Given the description of an element on the screen output the (x, y) to click on. 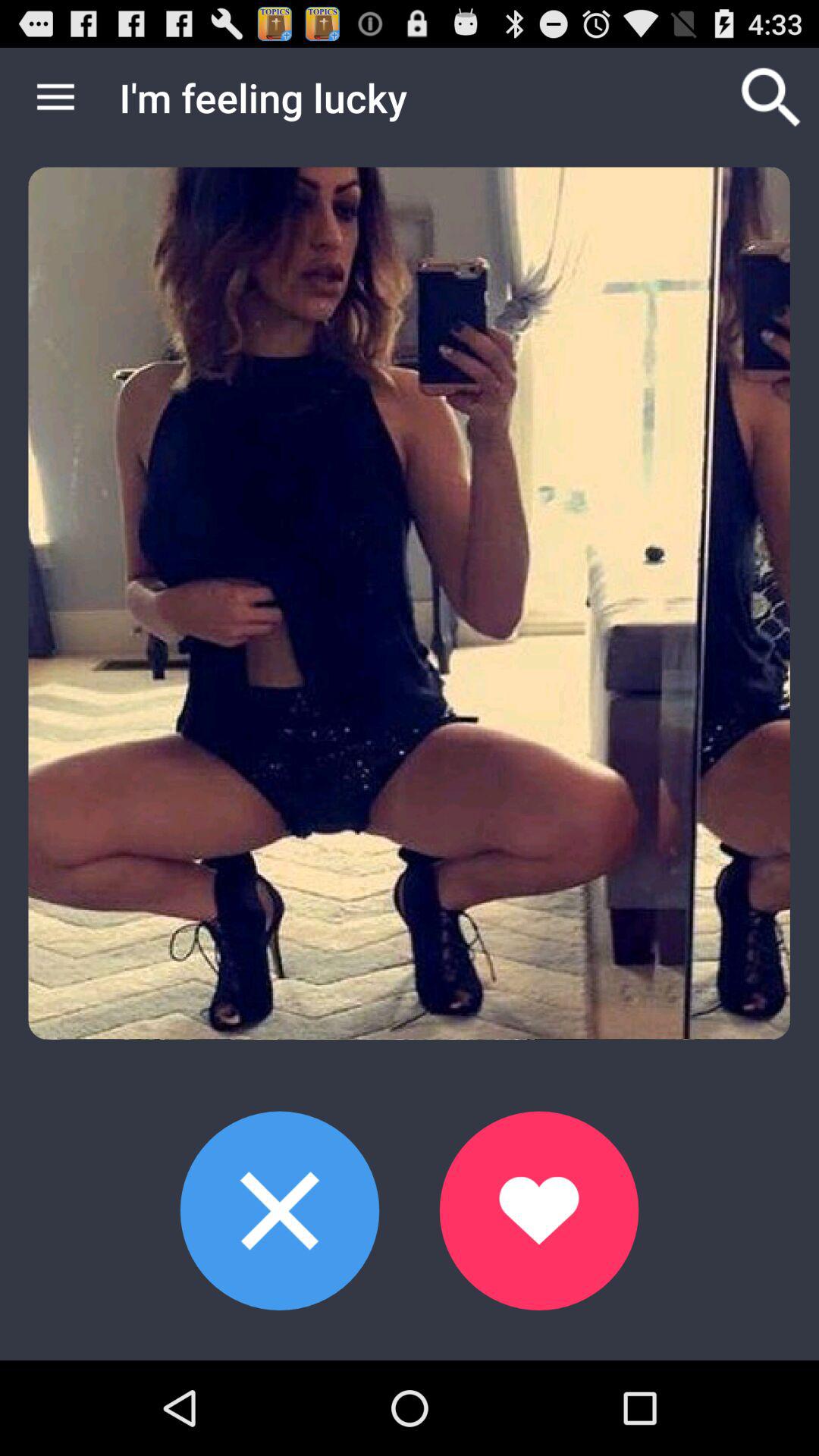
close (279, 1210)
